Given the description of an element on the screen output the (x, y) to click on. 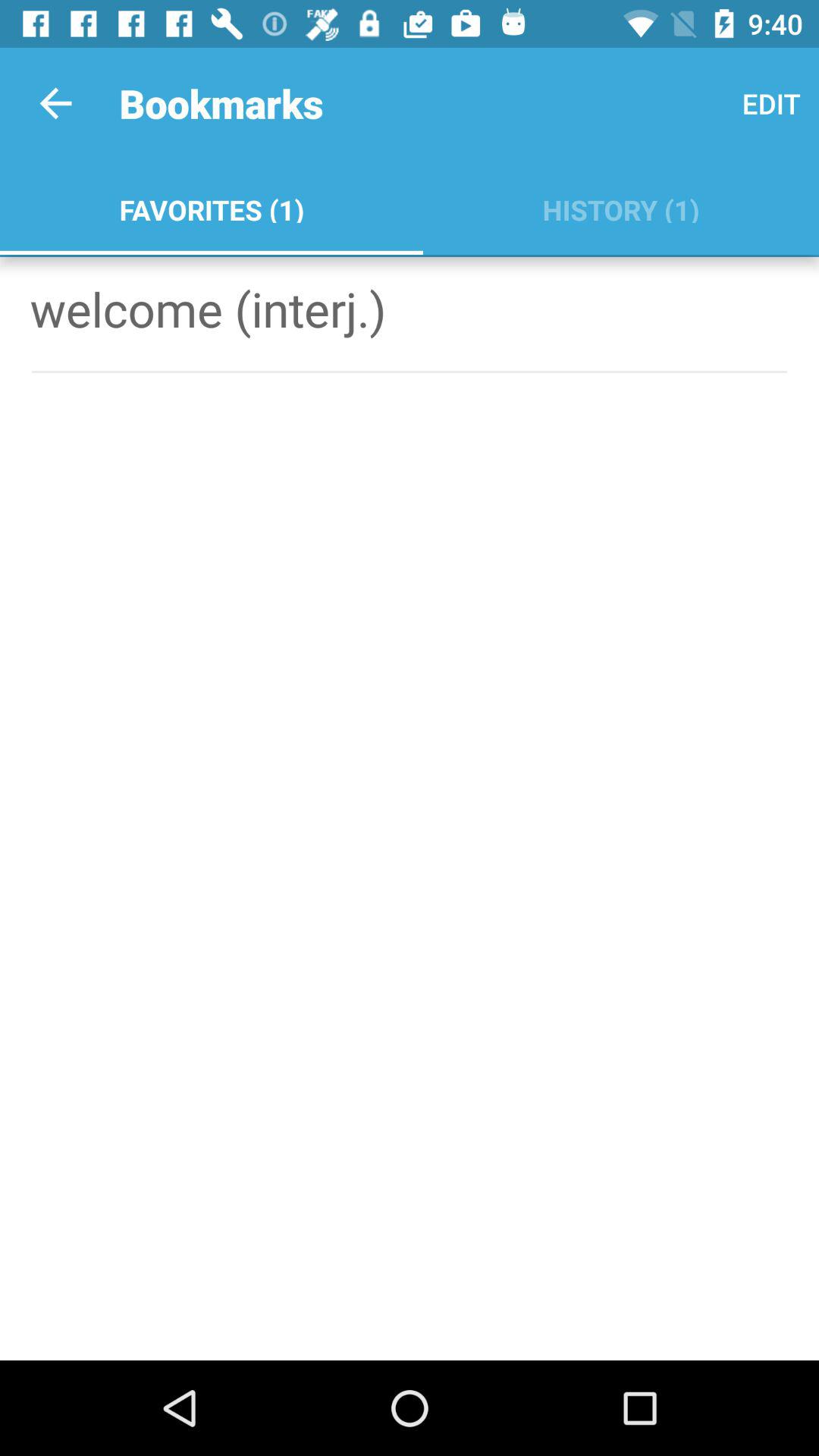
turn on app next to favorites (1) icon (771, 103)
